Given the description of an element on the screen output the (x, y) to click on. 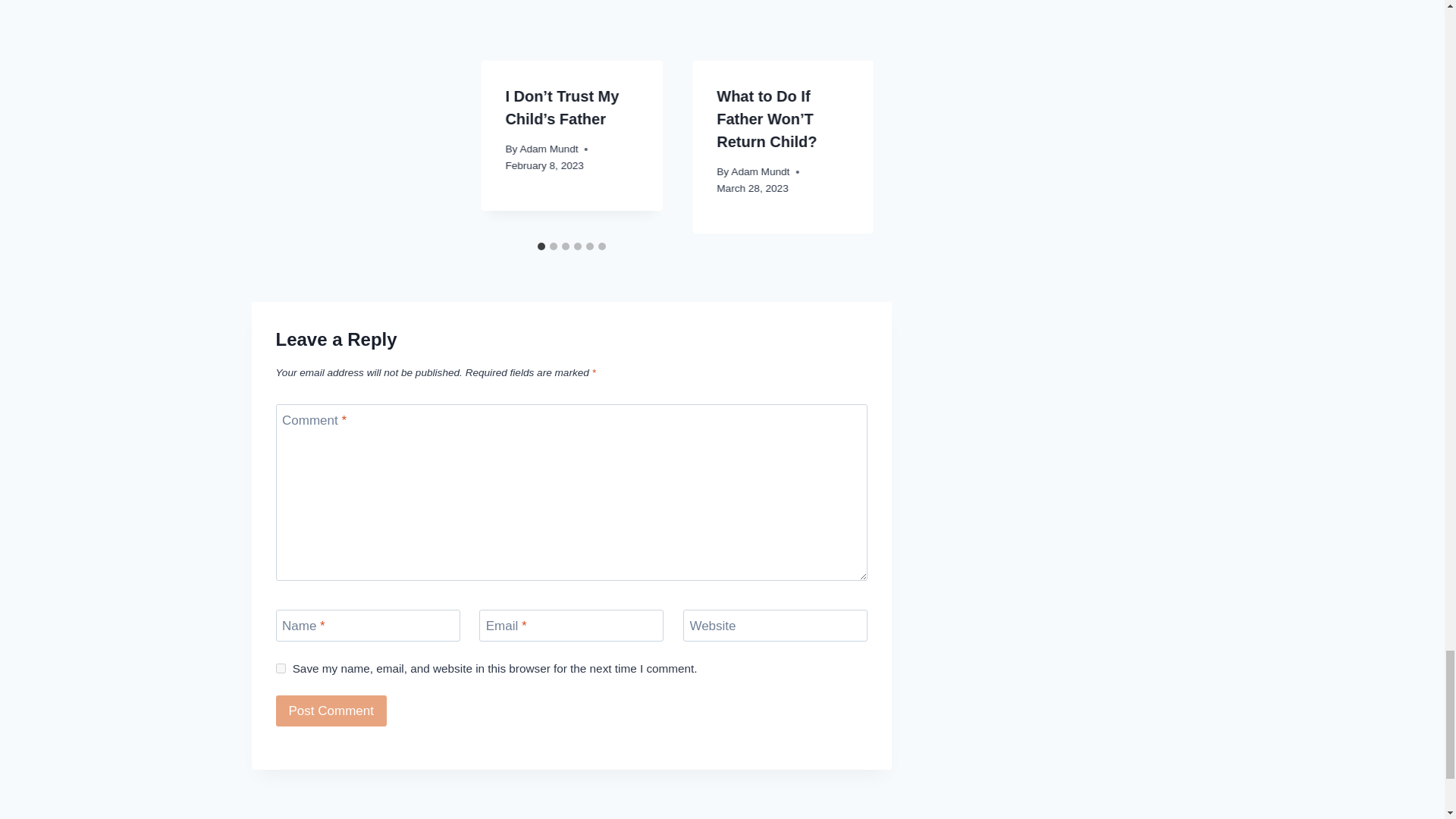
Post Comment (331, 710)
yes (280, 668)
